Given the description of an element on the screen output the (x, y) to click on. 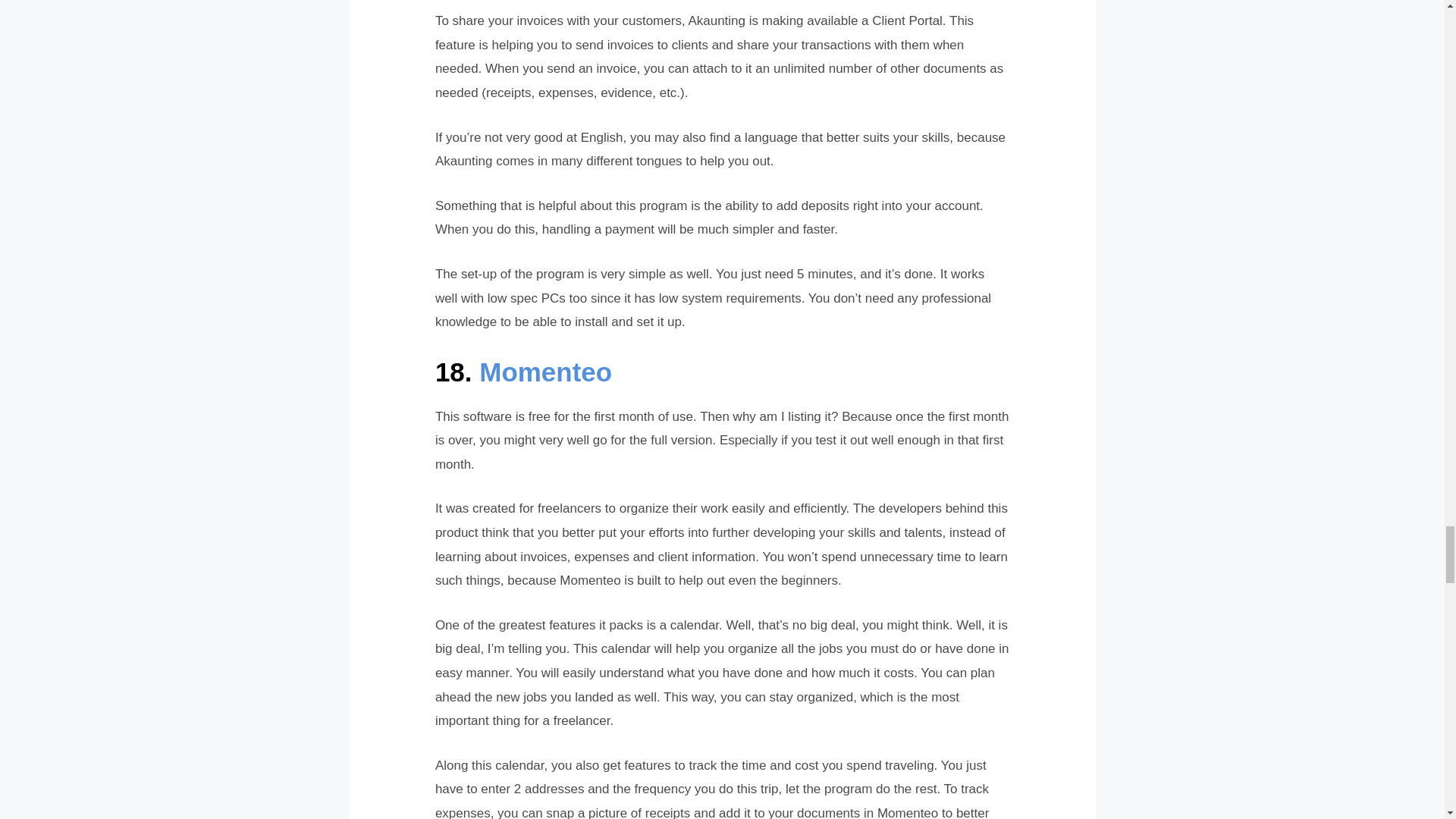
Momenteo (545, 371)
